Given the description of an element on the screen output the (x, y) to click on. 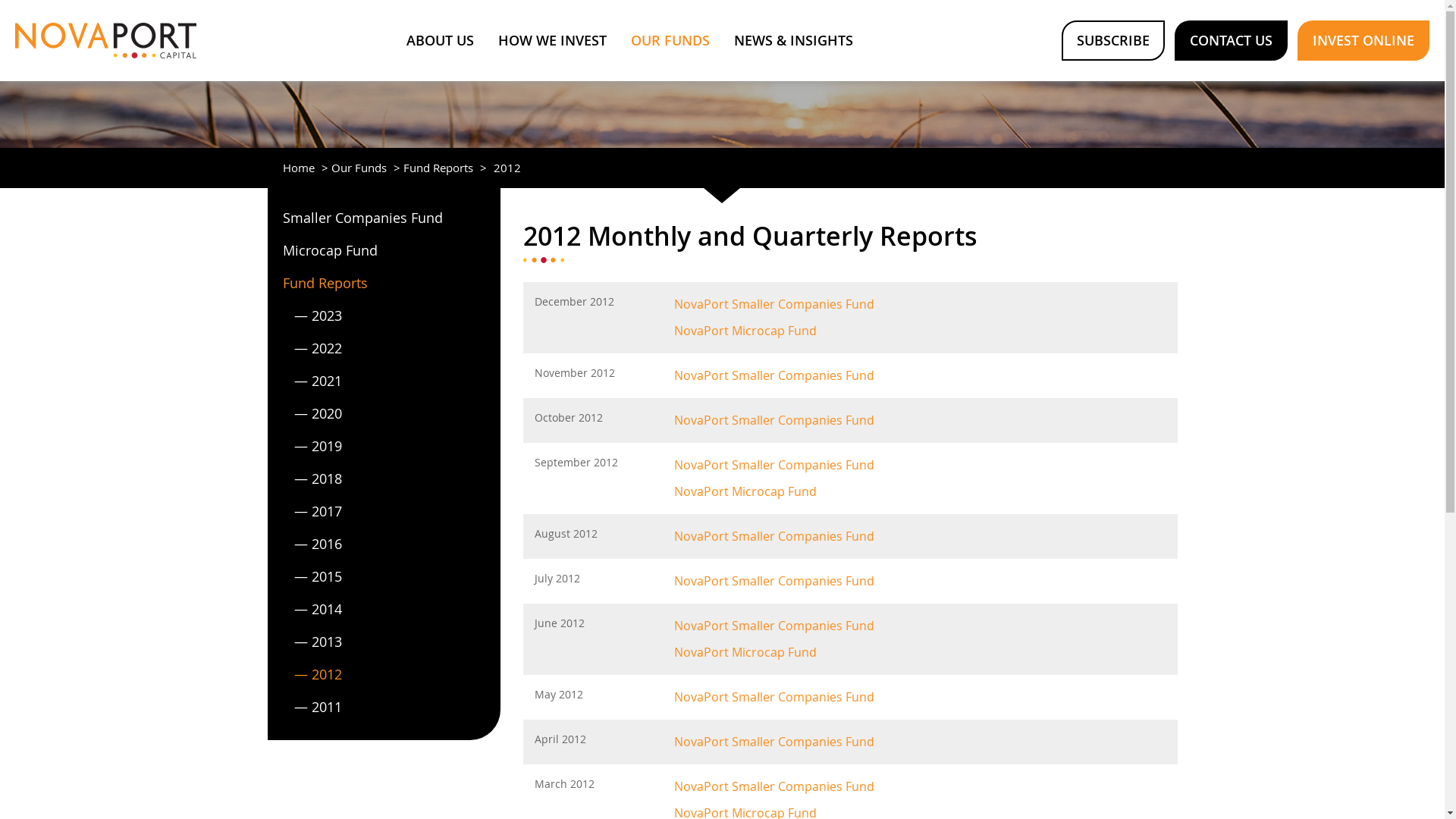
Home Element type: text (299, 167)
NovaPort Microcap Fund Element type: text (745, 330)
NovaPort Smaller Companies Fund Element type: text (774, 535)
CONTACT US Element type: text (1230, 40)
NovaPort Smaller Companies Fund Element type: text (774, 625)
2015 Element type: text (383, 570)
NovaPort Smaller Companies Fund Element type: text (774, 786)
NovaPort Smaller Companies Fund Element type: text (774, 580)
Fund Reports Element type: text (383, 277)
SUBSCRIBE Element type: text (1112, 40)
2018 Element type: text (383, 473)
NovaPort Smaller Companies Fund Element type: text (774, 741)
NovaPort Smaller Companies Fund Element type: text (774, 696)
2012 Element type: text (383, 668)
Microcap Fund Element type: text (383, 244)
2017 Element type: text (383, 505)
NovaPort Smaller Companies Fund Element type: text (774, 419)
Smaller Companies Fund Element type: text (383, 212)
NovaPort Microcap Fund Element type: text (745, 491)
NEWS & INSIGHTS Element type: text (793, 40)
OUR FUNDS Element type: text (669, 40)
HOW WE INVEST Element type: text (552, 40)
2021 Element type: text (383, 375)
NovaPort Microcap Fund Element type: text (745, 651)
NovaPort Smaller Companies Fund Element type: text (774, 303)
2014 Element type: text (383, 603)
NovaPort Smaller Companies Fund Element type: text (774, 375)
2023 Element type: text (383, 310)
Our Funds Element type: text (359, 167)
ABOUT US Element type: text (439, 40)
2020 Element type: text (383, 407)
2011 Element type: text (383, 701)
2016 Element type: text (383, 538)
NovaPort Smaller Companies Fund Element type: text (774, 464)
2013 Element type: text (383, 636)
2022 Element type: text (383, 342)
Fund Reports Element type: text (439, 167)
INVEST ONLINE Element type: text (1363, 40)
2019 Element type: text (383, 440)
